Given the description of an element on the screen output the (x, y) to click on. 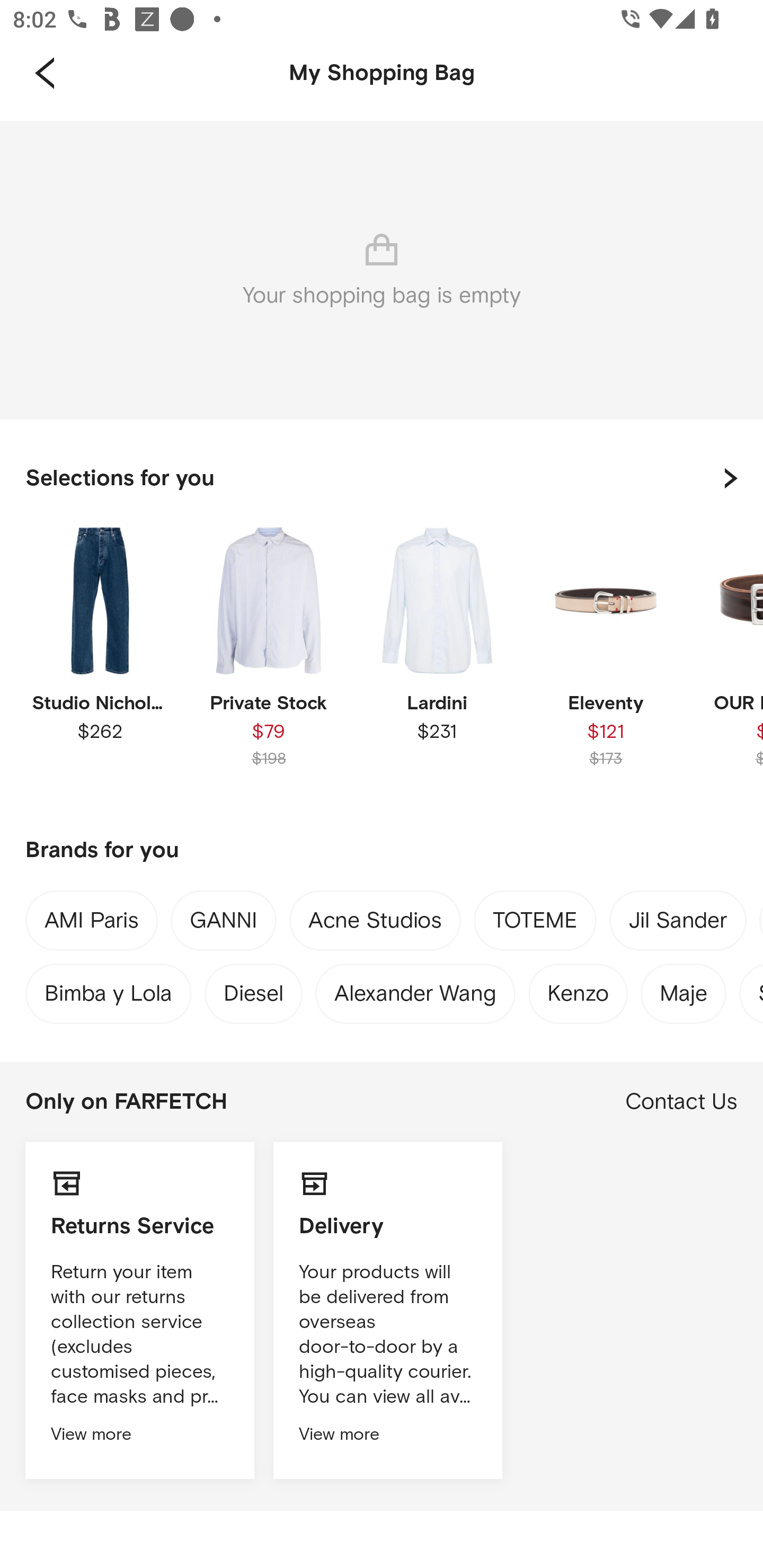
Selections for you (381, 477)
Studio Nicholson $262 (100, 660)
Private Stock $79 $198 (268, 660)
Lardini $231 (436, 660)
Eleventy $121 $173 (605, 660)
Brands for you (381, 850)
AMI Paris (91, 922)
GANNI (223, 924)
Acne Studios (374, 924)
TOTEME (534, 924)
Jil Sander (677, 924)
Bimba y Lola (108, 988)
Diesel (253, 988)
Alexander Wang (415, 988)
Kenzo (578, 988)
Maje (683, 988)
Contact Us (680, 1101)
